Given the description of an element on the screen output the (x, y) to click on. 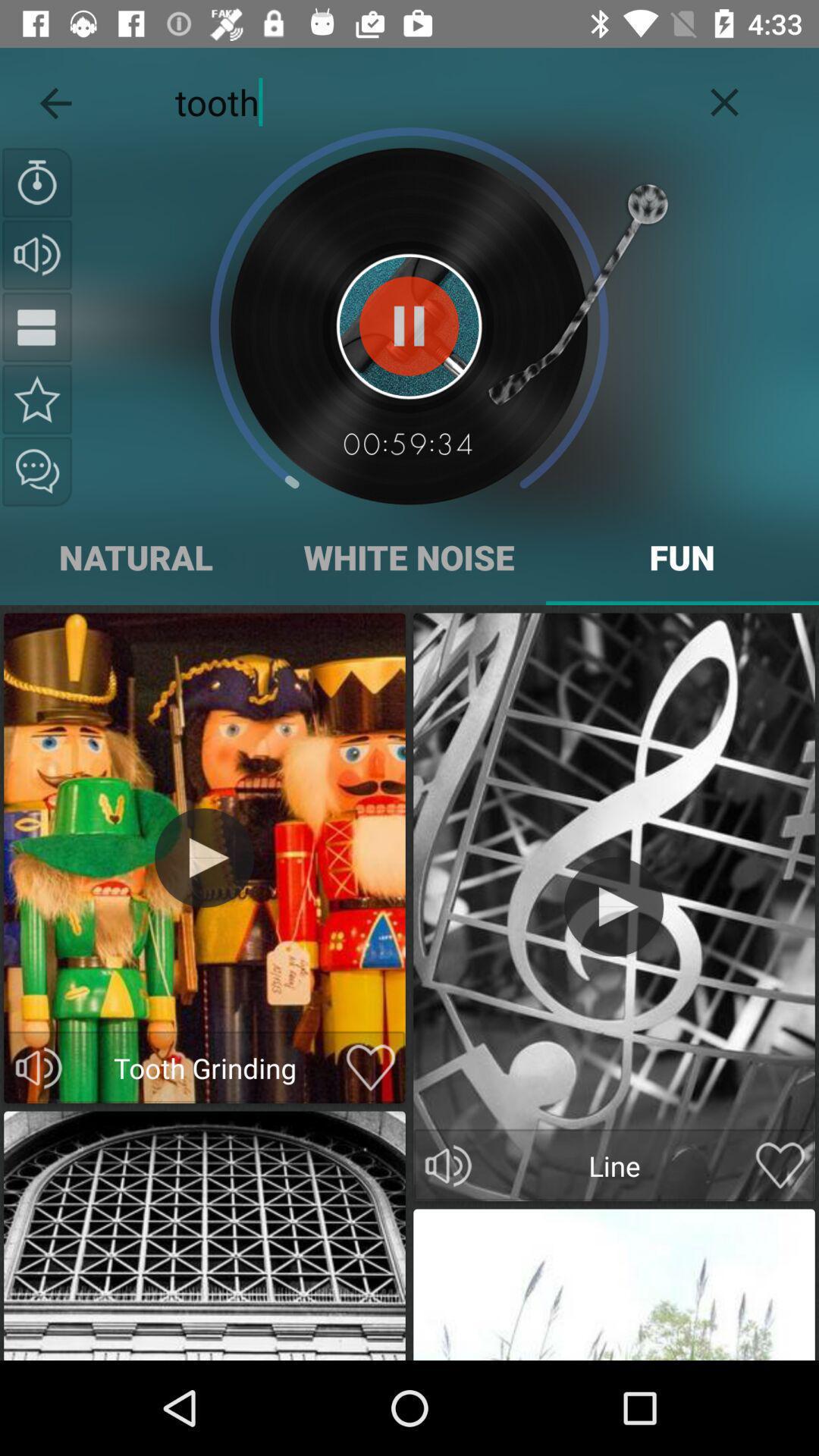
launch the icon next to the tooth (724, 99)
